Given the description of an element on the screen output the (x, y) to click on. 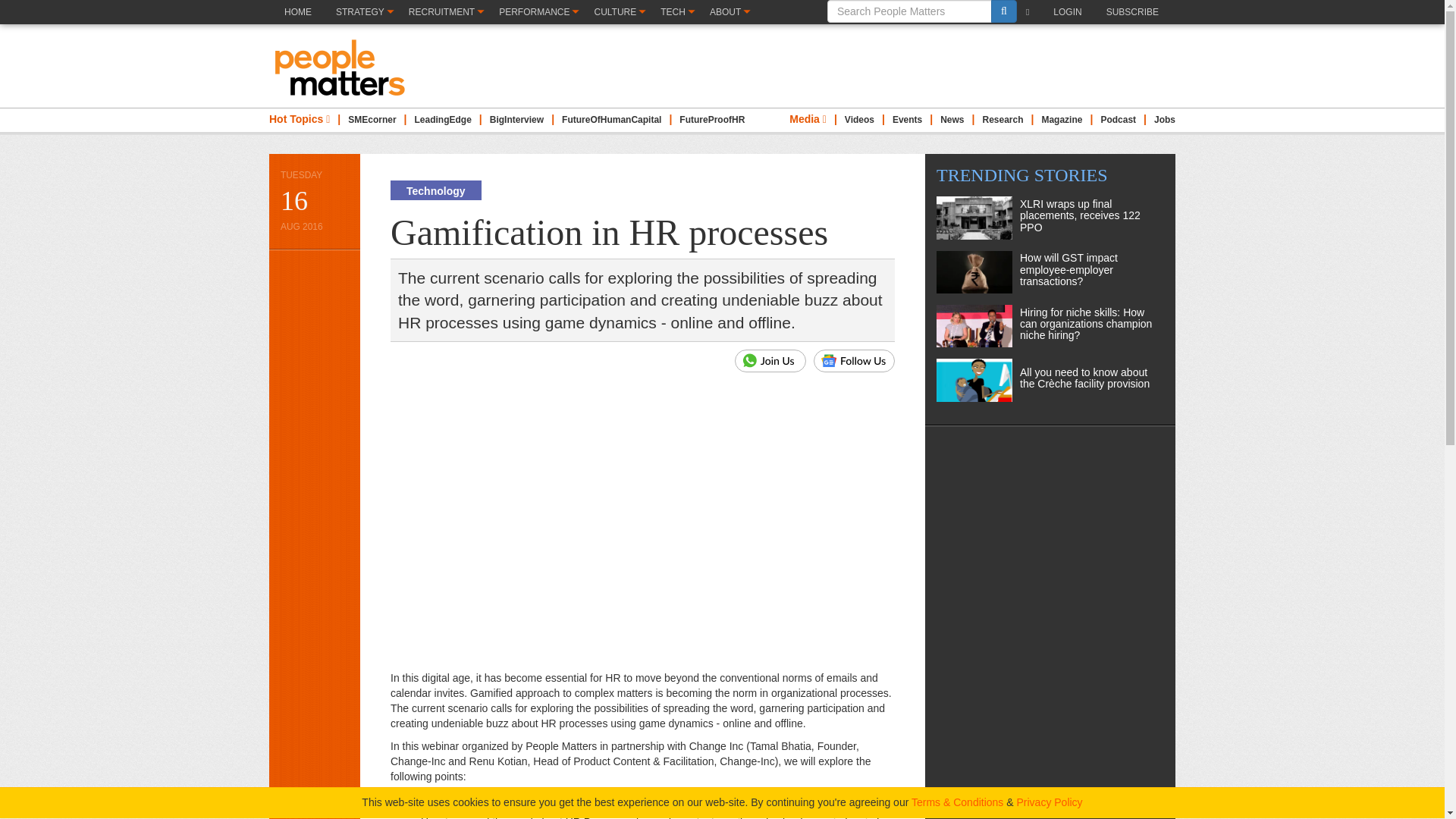
RECRUITMENT (445, 12)
STRATEGY (363, 12)
HOME (297, 24)
